Given the description of an element on the screen output the (x, y) to click on. 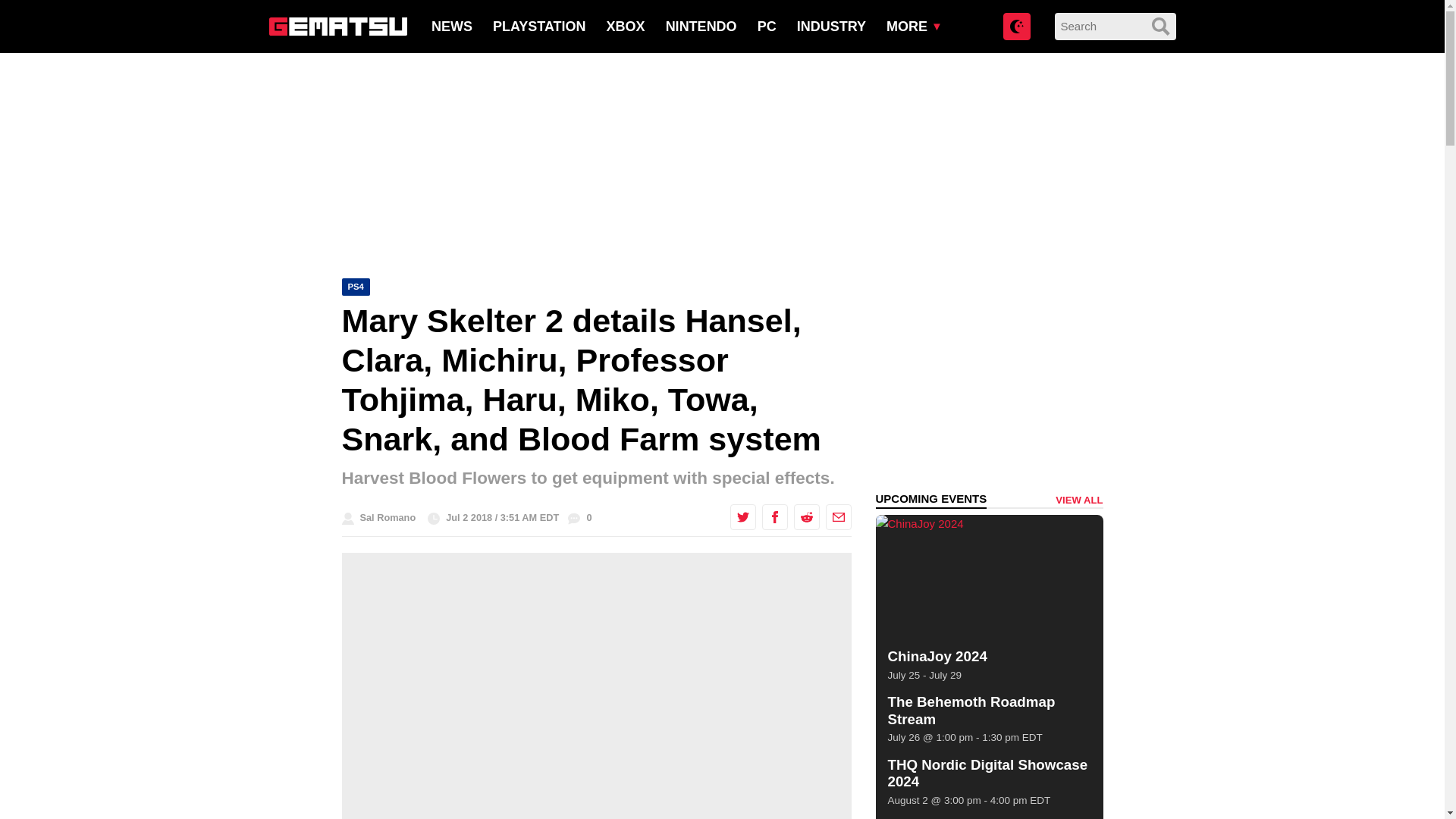
NEWS (450, 26)
Share this by email (837, 516)
Share this on Twitter (742, 516)
Posts by Sal Romano (386, 517)
Gematsu (336, 26)
INDUSTRY (831, 26)
XBOX (626, 26)
Share this on Facebook (774, 516)
Share this on Reddit (805, 516)
MORE (906, 26)
PLAYSTATION (539, 26)
PC (766, 26)
NINTENDO (700, 26)
